Given the description of an element on the screen output the (x, y) to click on. 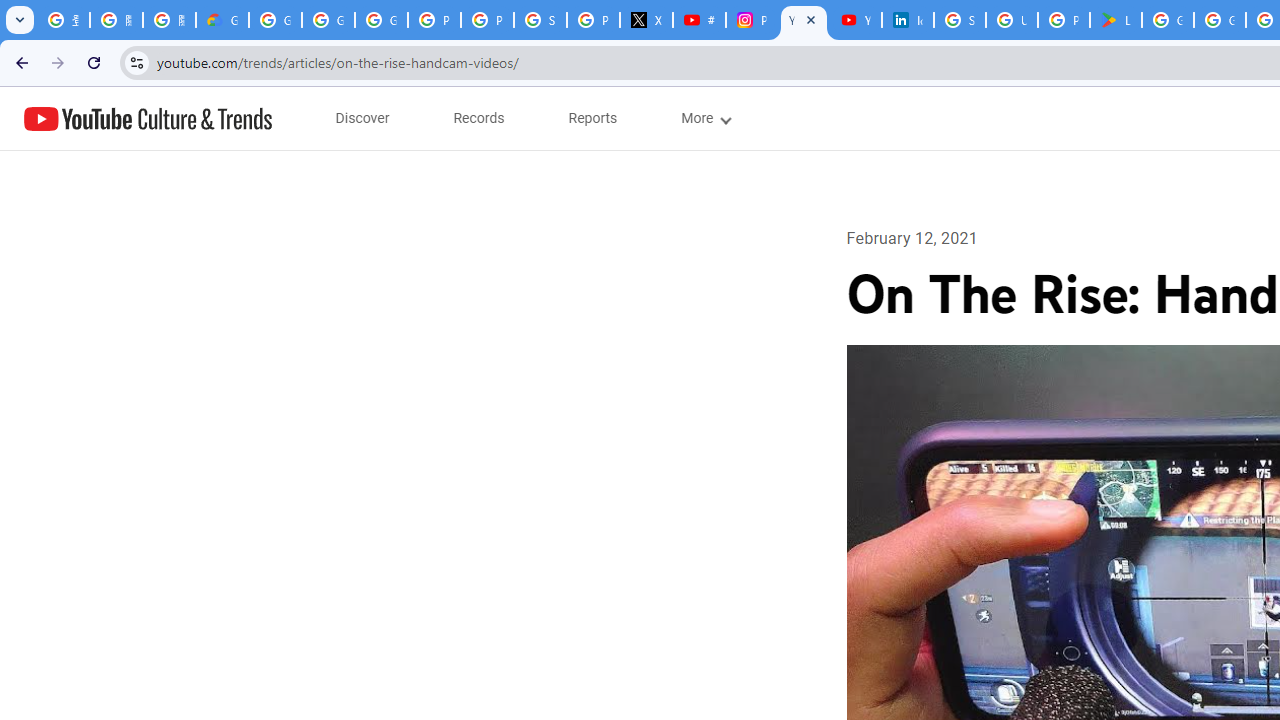
#nbabasketballhighlights - YouTube (699, 20)
JUMP TO CONTENT (209, 119)
Privacy Help Center - Policies Help (487, 20)
X (646, 20)
subnav-More menupopup (704, 118)
subnav-Reports menupopup (593, 118)
subnav-Records menupopup (479, 118)
Sign in - Google Accounts (959, 20)
